Given the description of an element on the screen output the (x, y) to click on. 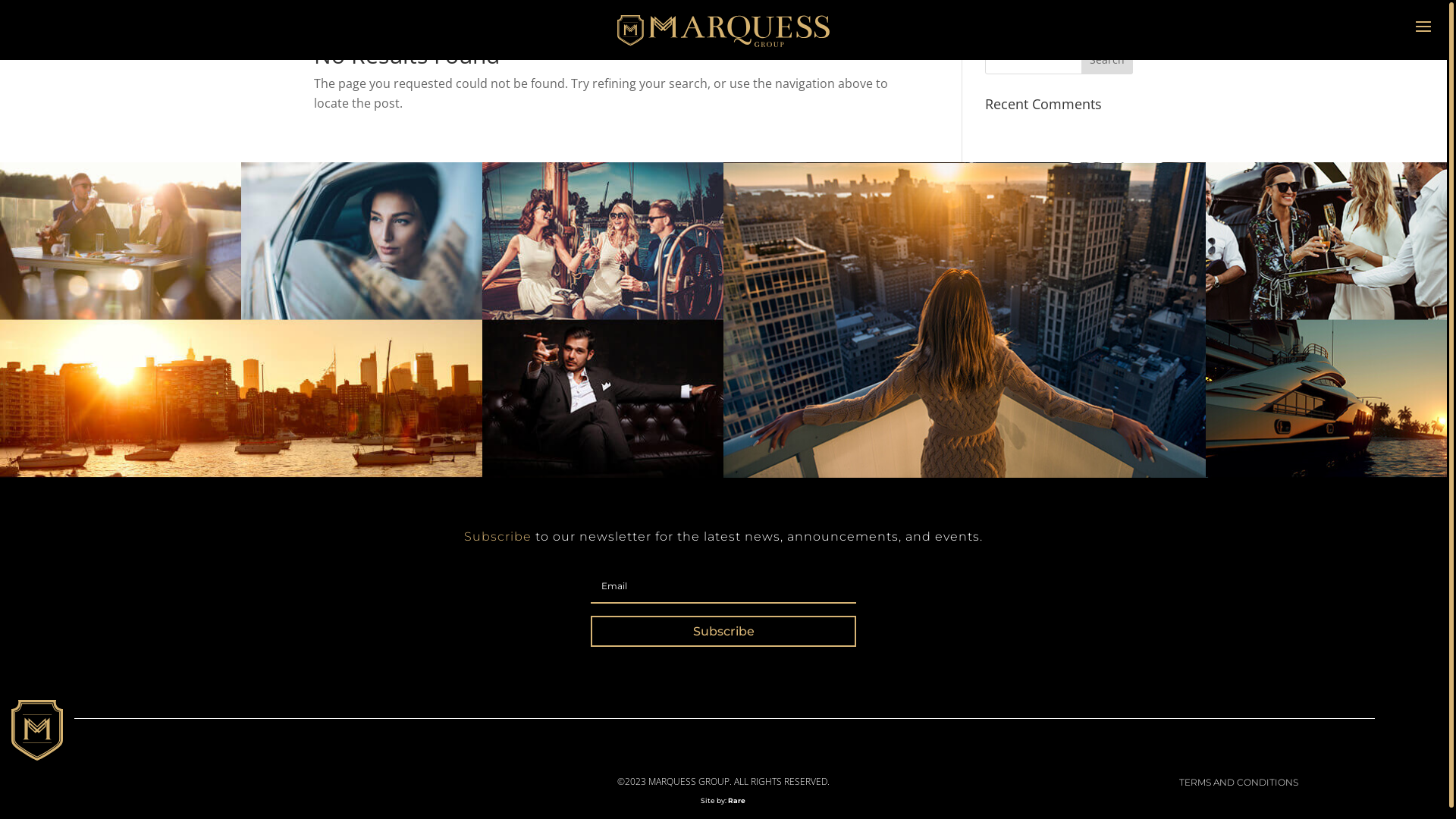
Rare Element type: text (736, 800)
logo-footer Element type: hover (36, 729)
TERMS AND CONDITIONS Element type: text (1238, 781)
footer-image-1 Element type: hover (361, 319)
Subscribe Element type: text (497, 536)
footer-image-2 Element type: hover (1084, 319)
Subscribe Element type: text (723, 630)
Search Element type: text (1106, 58)
